Given the description of an element on the screen output the (x, y) to click on. 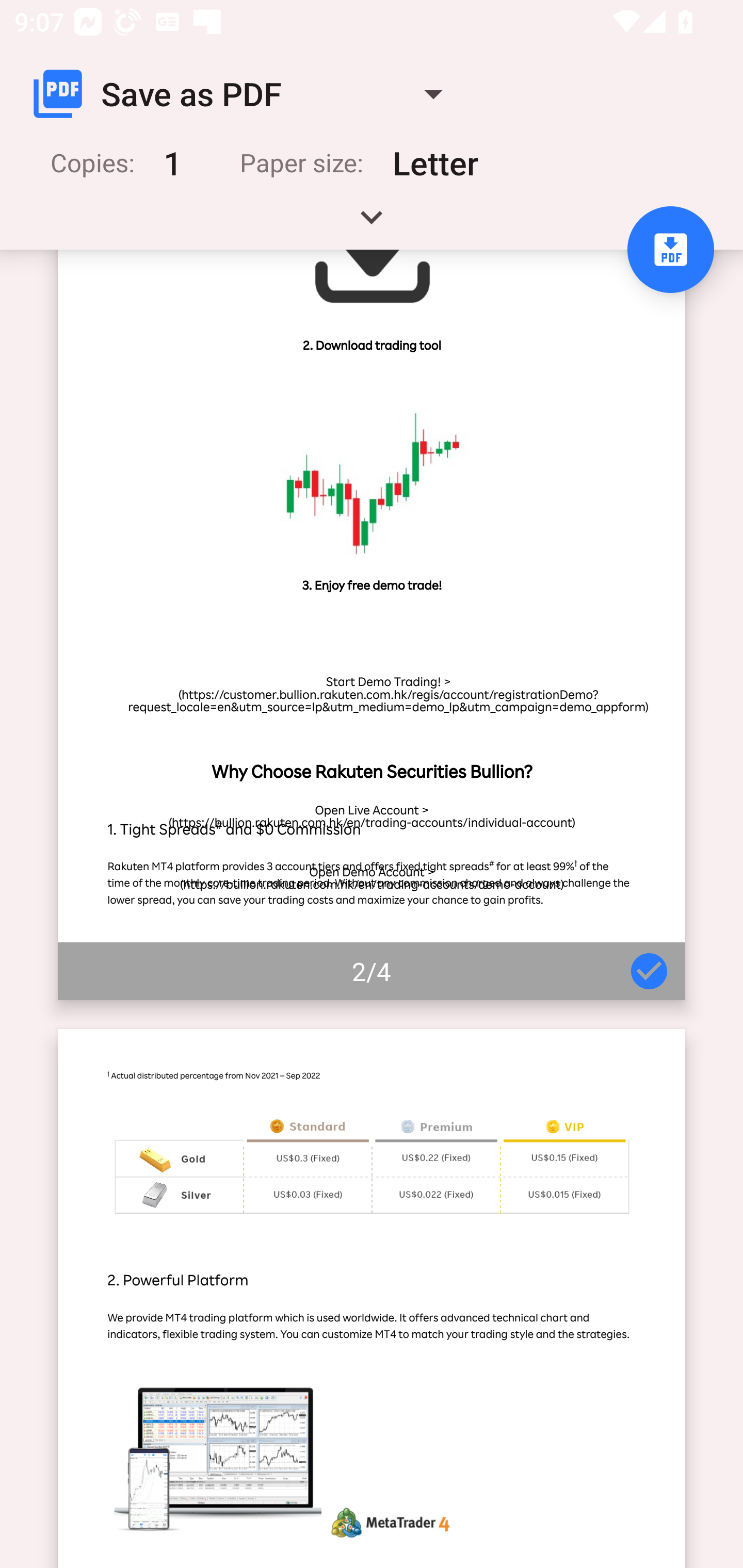
Save as PDF (245, 93)
Expand handle (371, 224)
Save to PDF (670, 249)
Page 2 of 4 2/4 (371, 624)
Page 3 of 4 (371, 1298)
